Given the description of an element on the screen output the (x, y) to click on. 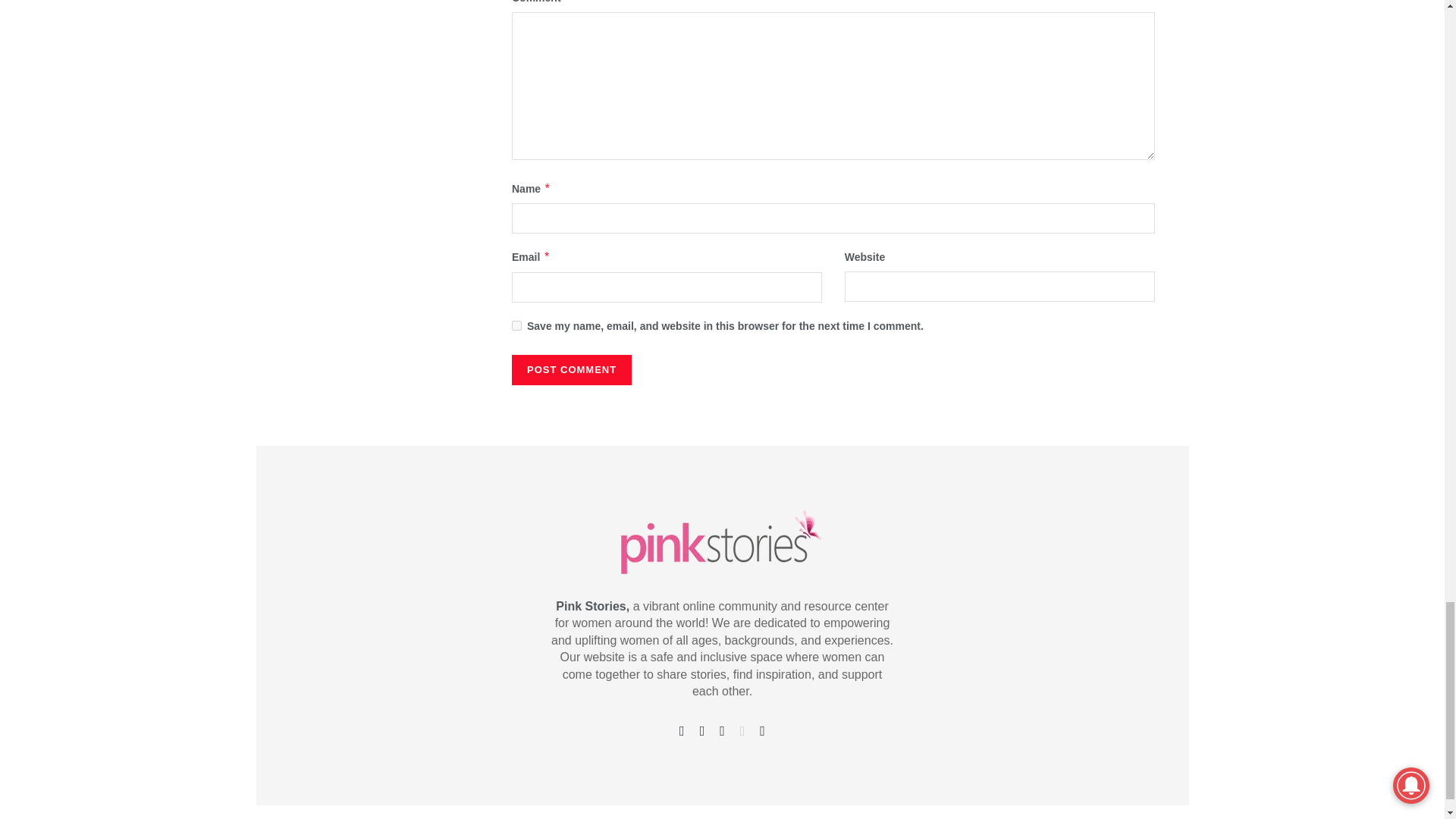
Post Comment (571, 369)
yes (516, 325)
